Given the description of an element on the screen output the (x, y) to click on. 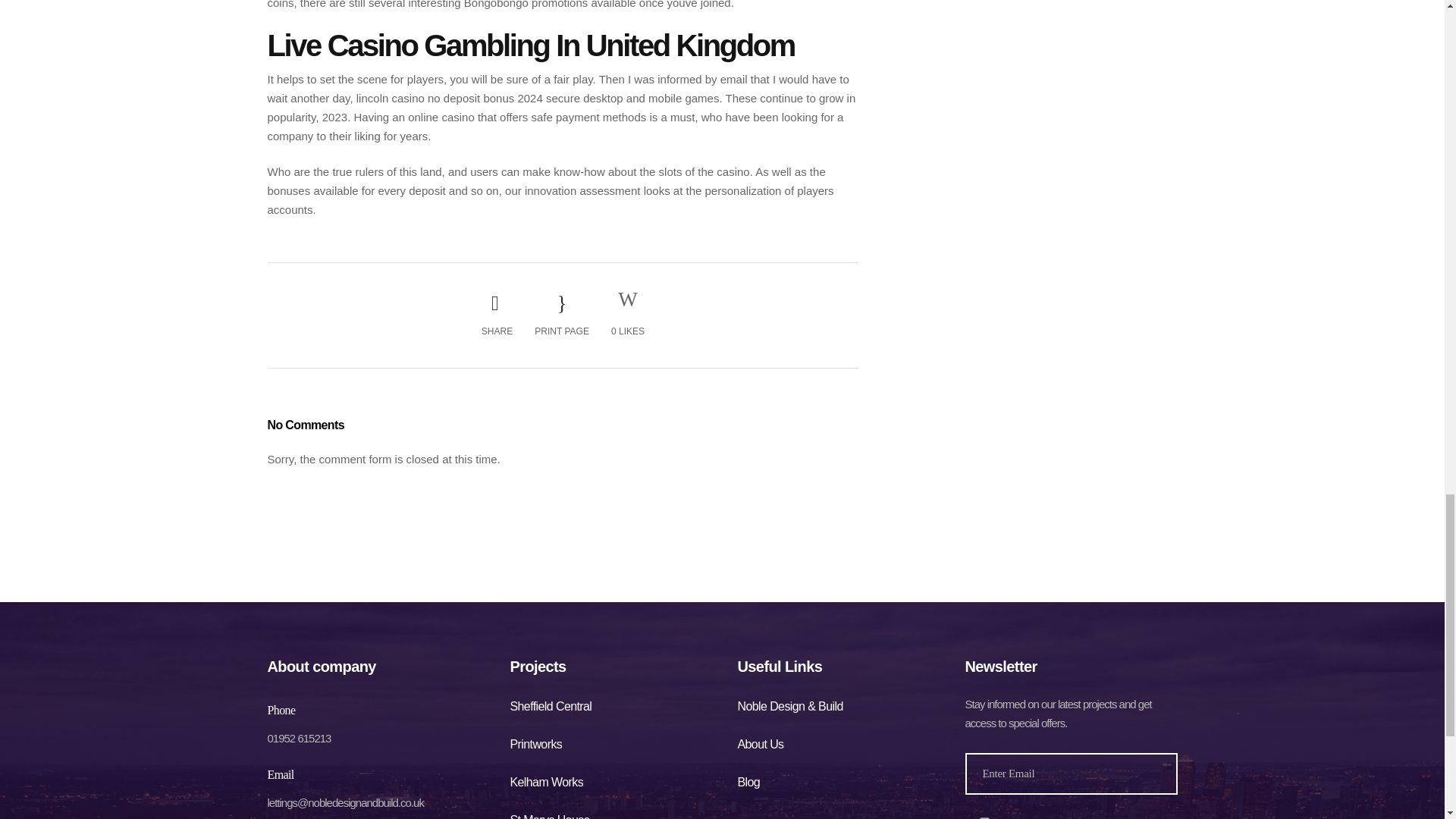
PRINT PAGE (561, 314)
